Given the description of an element on the screen output the (x, y) to click on. 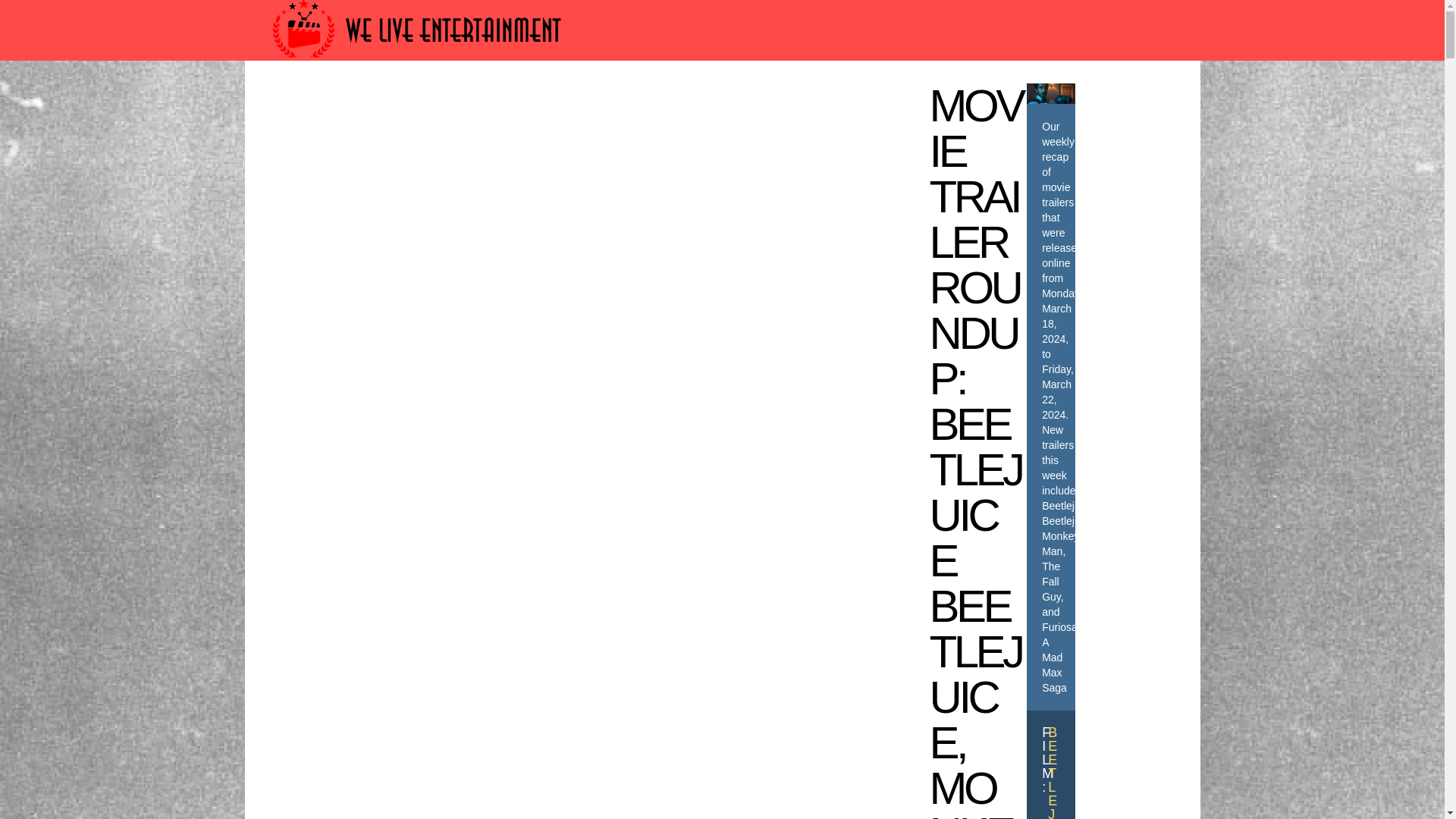
WE LIVE AWARDS (421, 103)
WE LIVE ENTERTAINMENT (841, 103)
WE LIVE FILM (542, 103)
WE LIVE TV SHOWS (671, 103)
HOME (325, 103)
We Live Entertainment (418, 63)
